Given the description of an element on the screen output the (x, y) to click on. 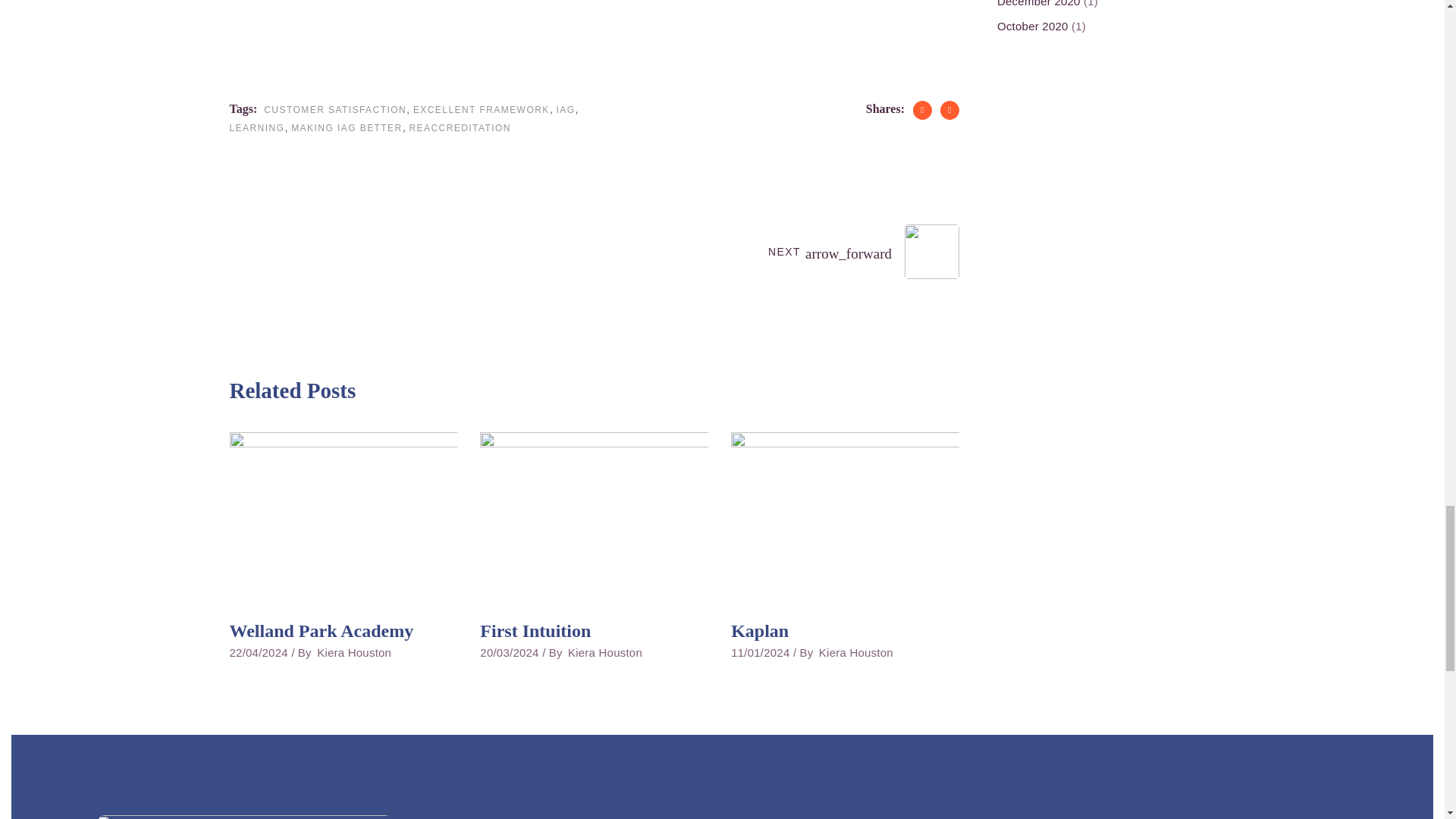
Kaplan (759, 630)
Welland Park Academy (342, 519)
Kaplan (844, 519)
First Intuition (593, 519)
Welland Park Academy (320, 630)
First Intuition (535, 630)
